Given the description of an element on the screen output the (x, y) to click on. 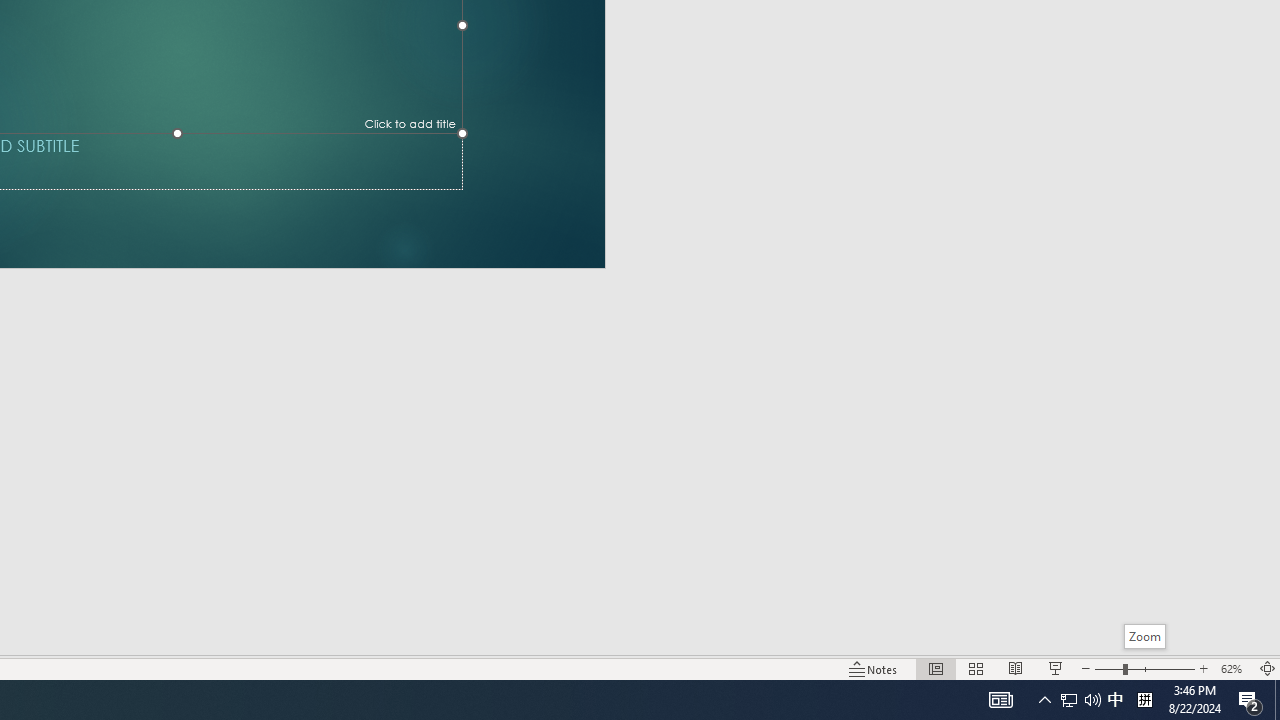
Notes  (874, 668)
Zoom 62% (1234, 668)
